Given the description of an element on the screen output the (x, y) to click on. 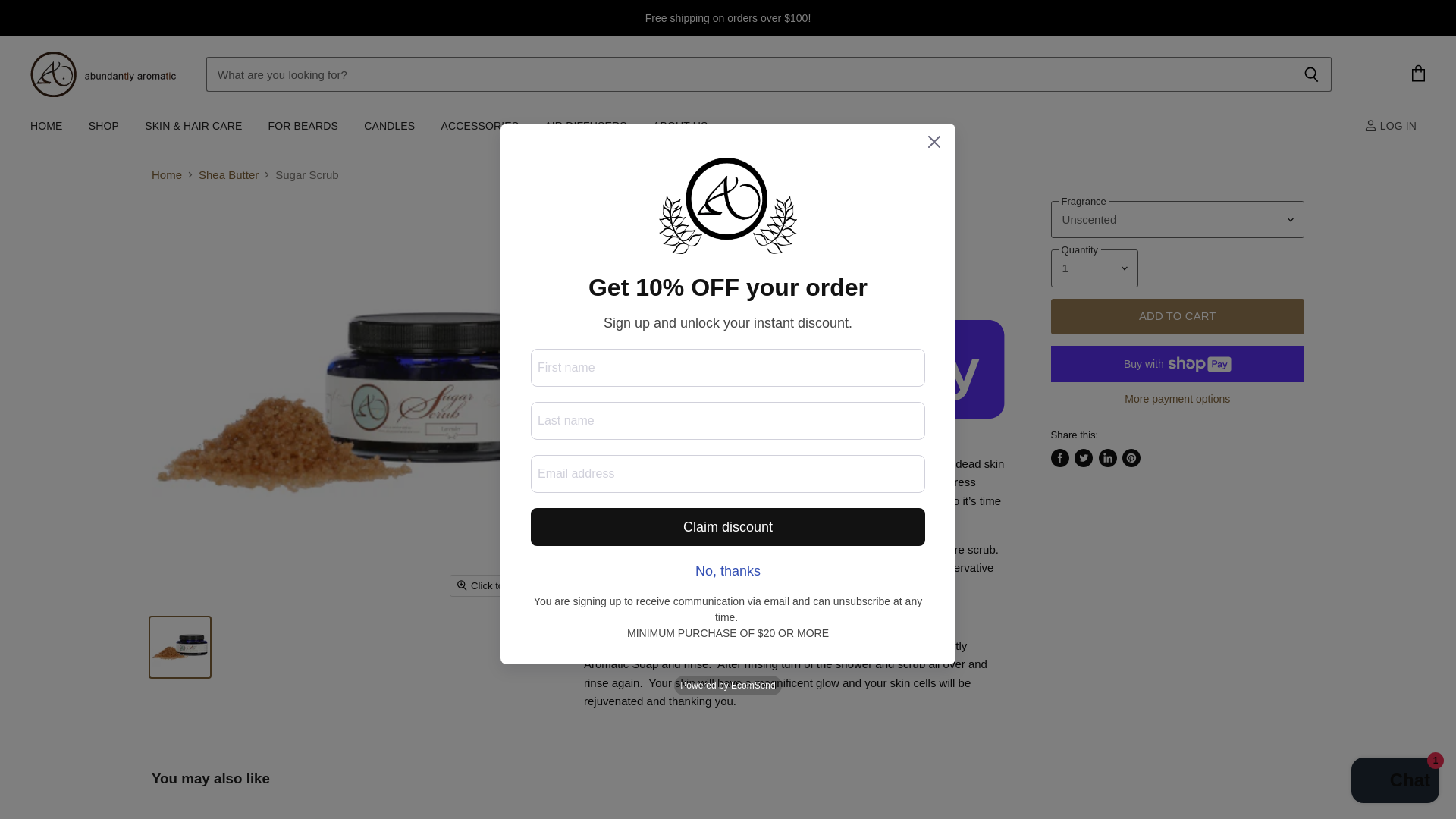
ADD TO CART (1177, 316)
ACCESSORIES (479, 125)
SHOP (104, 125)
ABOUT US (680, 125)
Home (166, 174)
Shopify online store chat (1395, 781)
Shea Butter (228, 174)
ACCOUNT ICON LOG IN (1393, 126)
Click to expand (498, 585)
AIR DIFFUSERS (584, 125)
Tweet on Twitter (1083, 457)
HOME (46, 125)
Share on Facebook (1059, 457)
More payment options (1177, 398)
View cart (1417, 73)
